Given the description of an element on the screen output the (x, y) to click on. 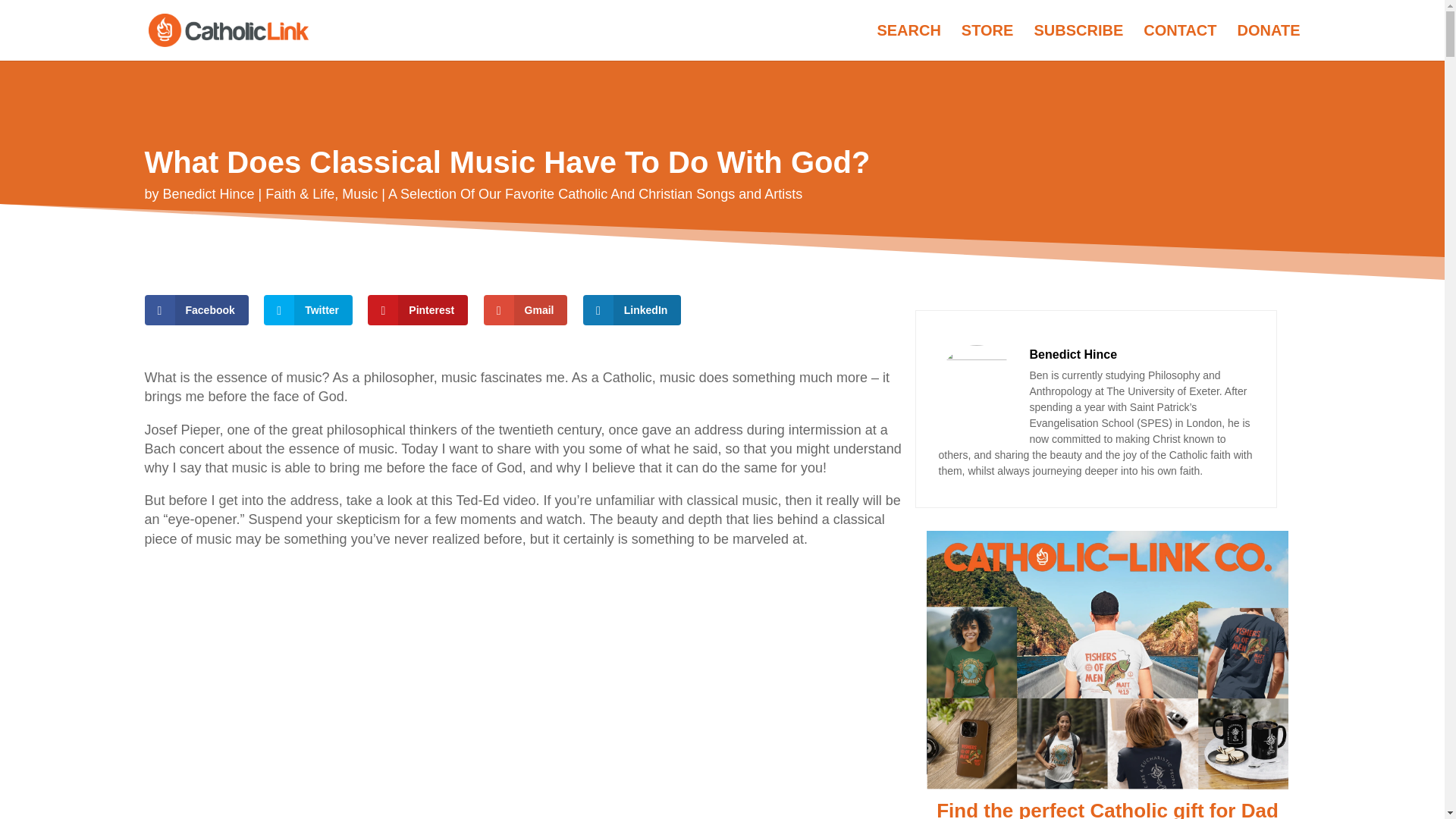
Gmail (525, 309)
Twitter (307, 309)
SEARCH (908, 42)
Facebook (195, 309)
STORE (986, 42)
SUBSCRIBE (1077, 42)
Posts by Benedict Hince (208, 193)
Benedict Hince (208, 193)
LinkedIn (632, 309)
Pinterest (417, 309)
CONTACT (1178, 42)
DONATE (1268, 42)
